Given the description of an element on the screen output the (x, y) to click on. 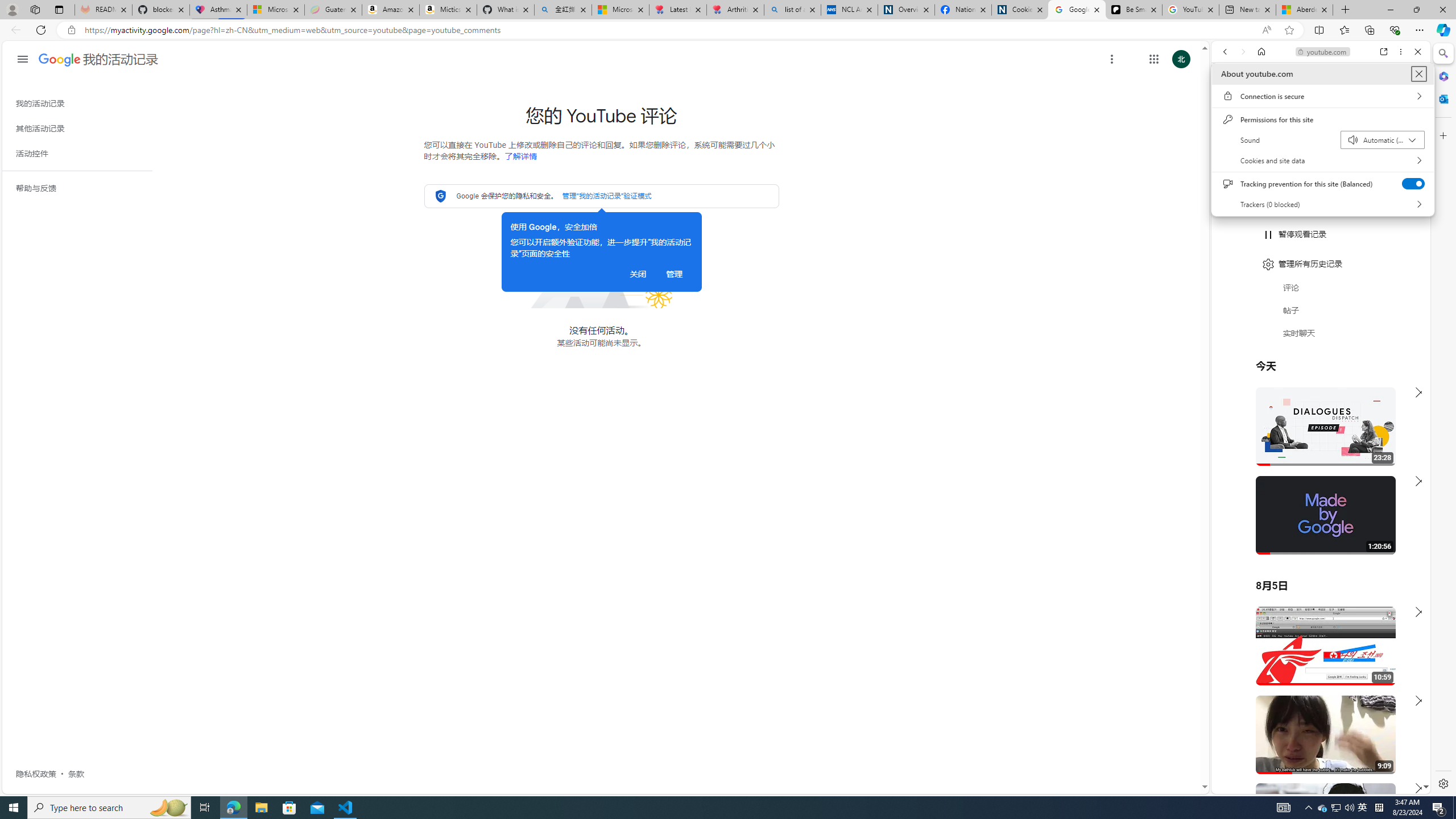
Start (13, 807)
Music (1320, 309)
Tracking prevention for this site (Balanced) (1413, 183)
User Promoted Notification Area (1336, 807)
Search highlights icon opens search home window (167, 807)
Connection is secure (1322, 95)
US[ju] (1249, 785)
About youtube.com (1418, 73)
